Given the description of an element on the screen output the (x, y) to click on. 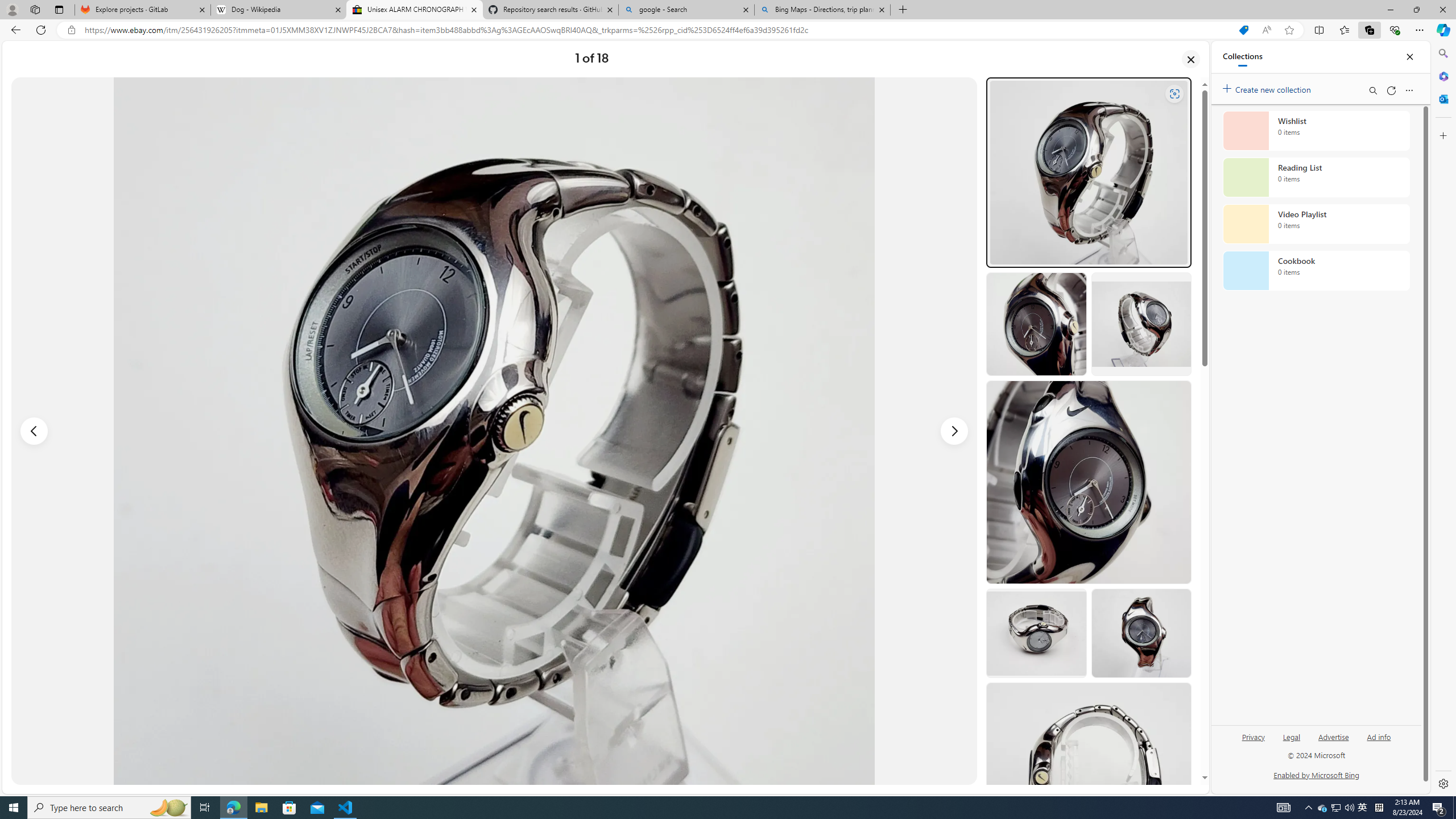
You have the best price! (1243, 29)
Advertise (1333, 736)
Create new collection (1268, 87)
Ad info (1378, 736)
